Given the description of an element on the screen output the (x, y) to click on. 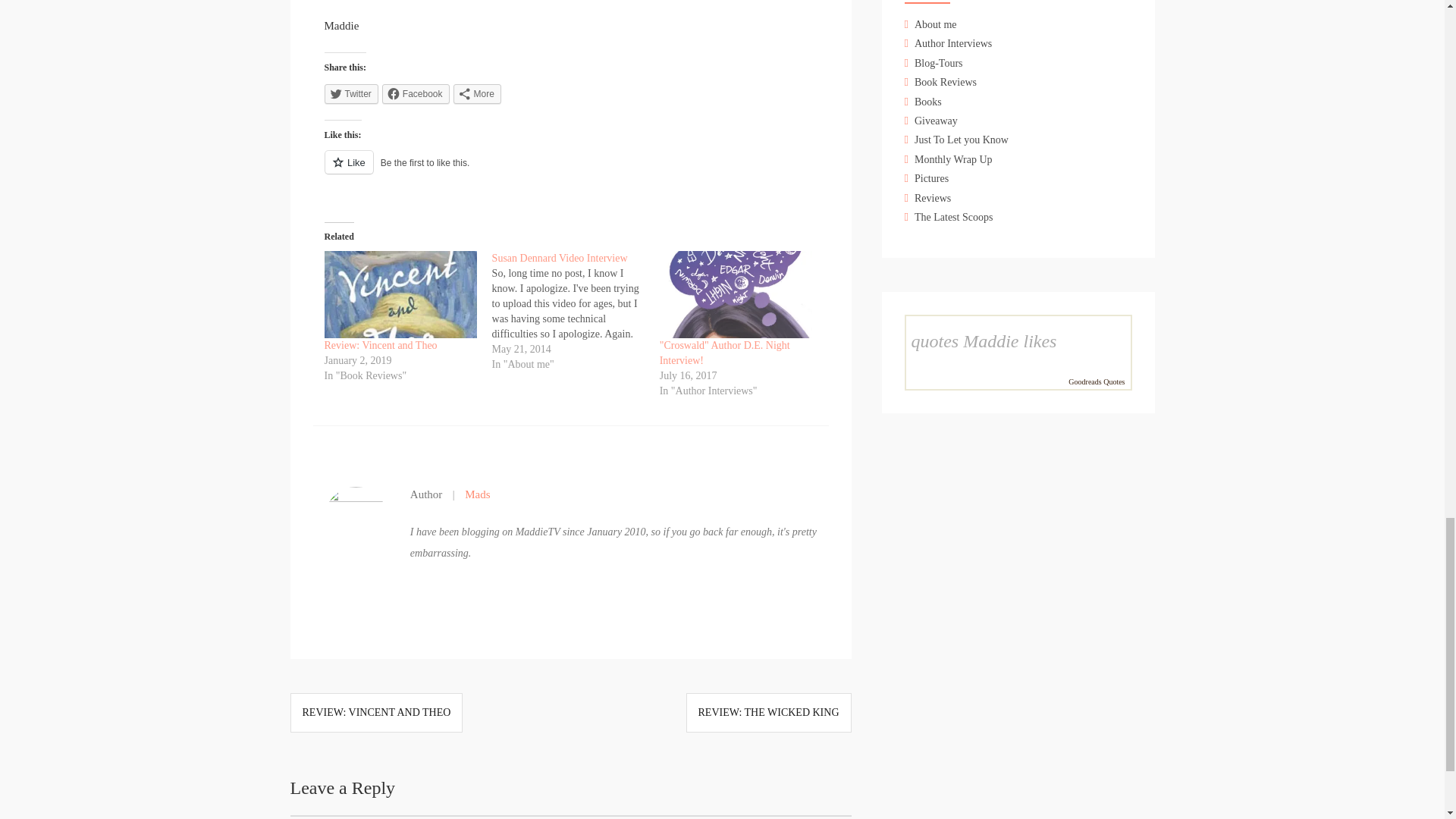
Susan Dennard Video Interview (559, 257)
REVIEW: VINCENT AND THEO (375, 712)
REVIEW: THE WICKED KING (767, 712)
Twitter (351, 94)
Susan Dennard Video Interview (559, 257)
Facebook (415, 94)
Review: Vincent and Theo (381, 345)
"Croswald" Author D.E. Night Interview! (724, 352)
Mads (473, 494)
Review: Vincent and Theo (381, 345)
"Croswald" Author D.E. Night Interview! (735, 294)
Review: Vincent and Theo (400, 294)
"Croswald" Author D.E. Night Interview! (724, 352)
More (476, 94)
